Given the description of an element on the screen output the (x, y) to click on. 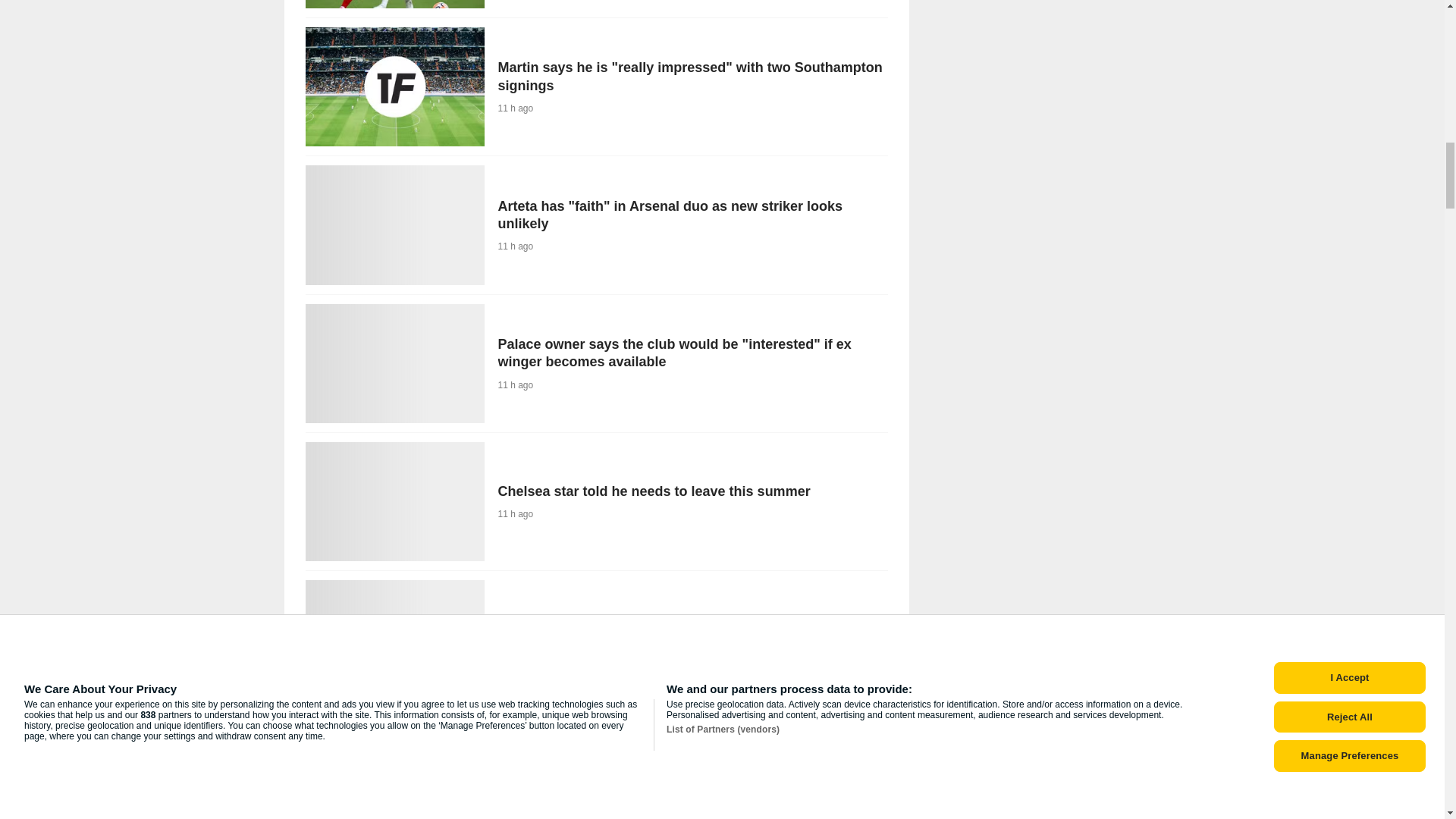
MORE EPL NEWS (835, 761)
